Given the description of an element on the screen output the (x, y) to click on. 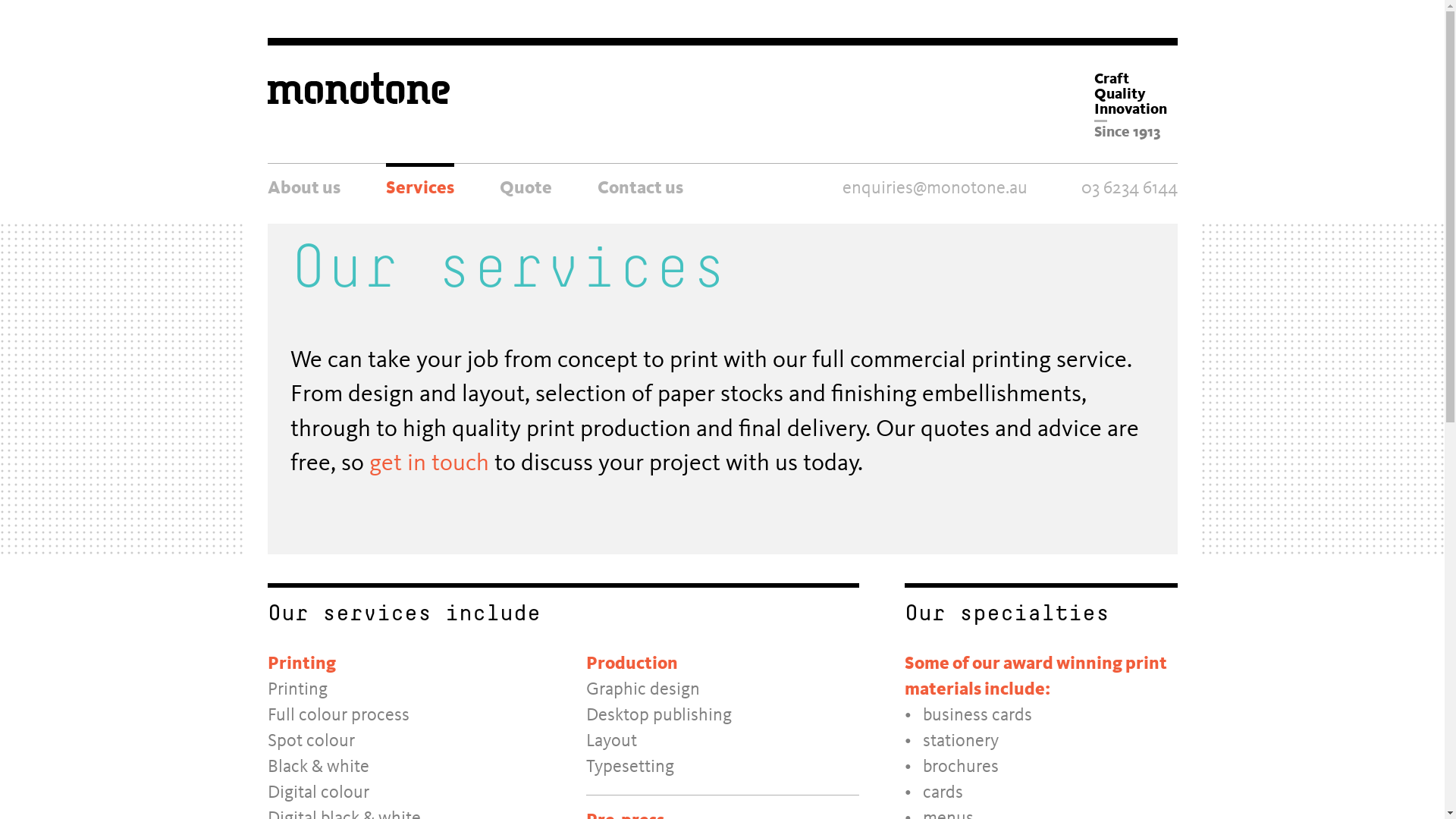
Services Element type: text (419, 186)
03 6234 6144 Element type: text (1119, 188)
enquiries@monotone.au Element type: text (919, 188)
About us Element type: text (302, 186)
Quote Element type: text (524, 186)
get in touch Element type: text (428, 463)
Contact us Element type: text (640, 186)
